Given the description of an element on the screen output the (x, y) to click on. 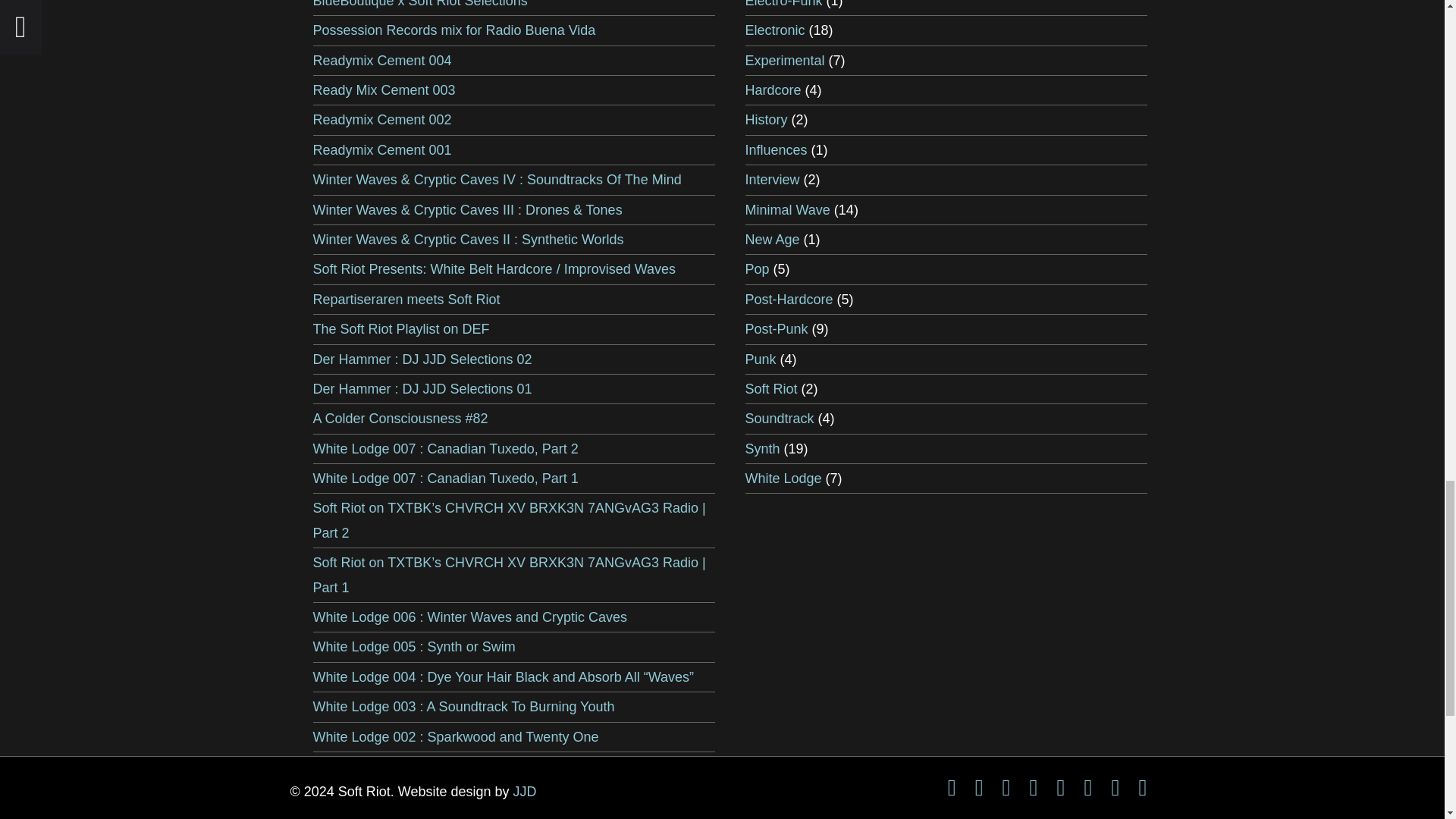
Possession Records mix for Radio Buena Vida (454, 29)
Readymix Cement 004 (382, 60)
White Lodge 007 : Canadian Tuxedo, Part 2 (445, 448)
Readymix Cement 001 (382, 150)
White Lodge 007 : Canadian Tuxedo, Part 1 (445, 478)
Readymix Cement 002 (382, 119)
The Soft Riot Playlist on DEF (401, 328)
Der Hammer : DJ JJD Selections 02 (422, 359)
Ready Mix Cement 003 (383, 89)
Repartiseraren meets Soft Riot (406, 299)
